Given the description of an element on the screen output the (x, y) to click on. 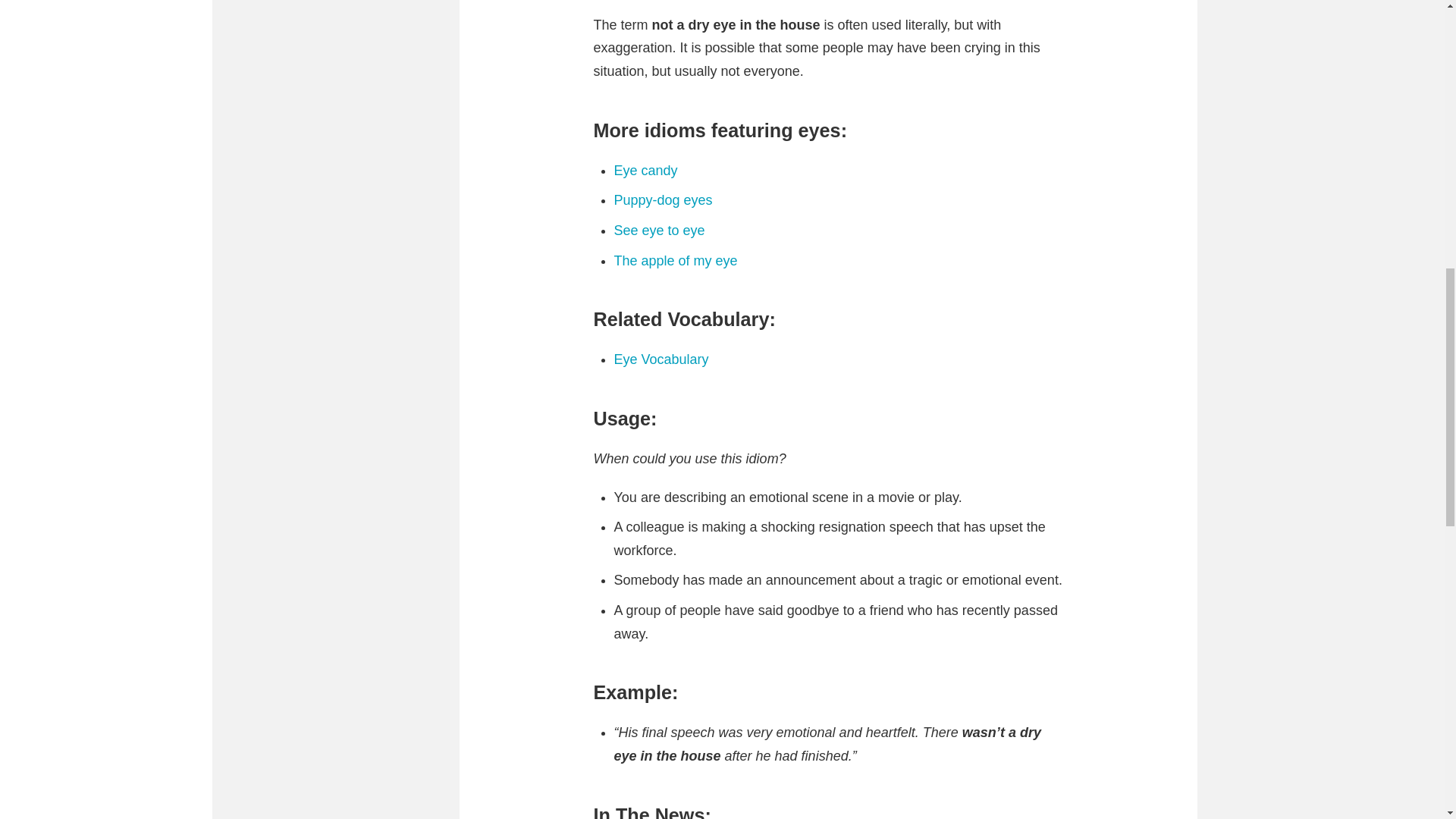
Eye candy (646, 170)
Eye Vocabulary (661, 359)
Puppy-dog eyes (663, 200)
See eye to eye (659, 230)
The apple of my eye (676, 260)
